Given the description of an element on the screen output the (x, y) to click on. 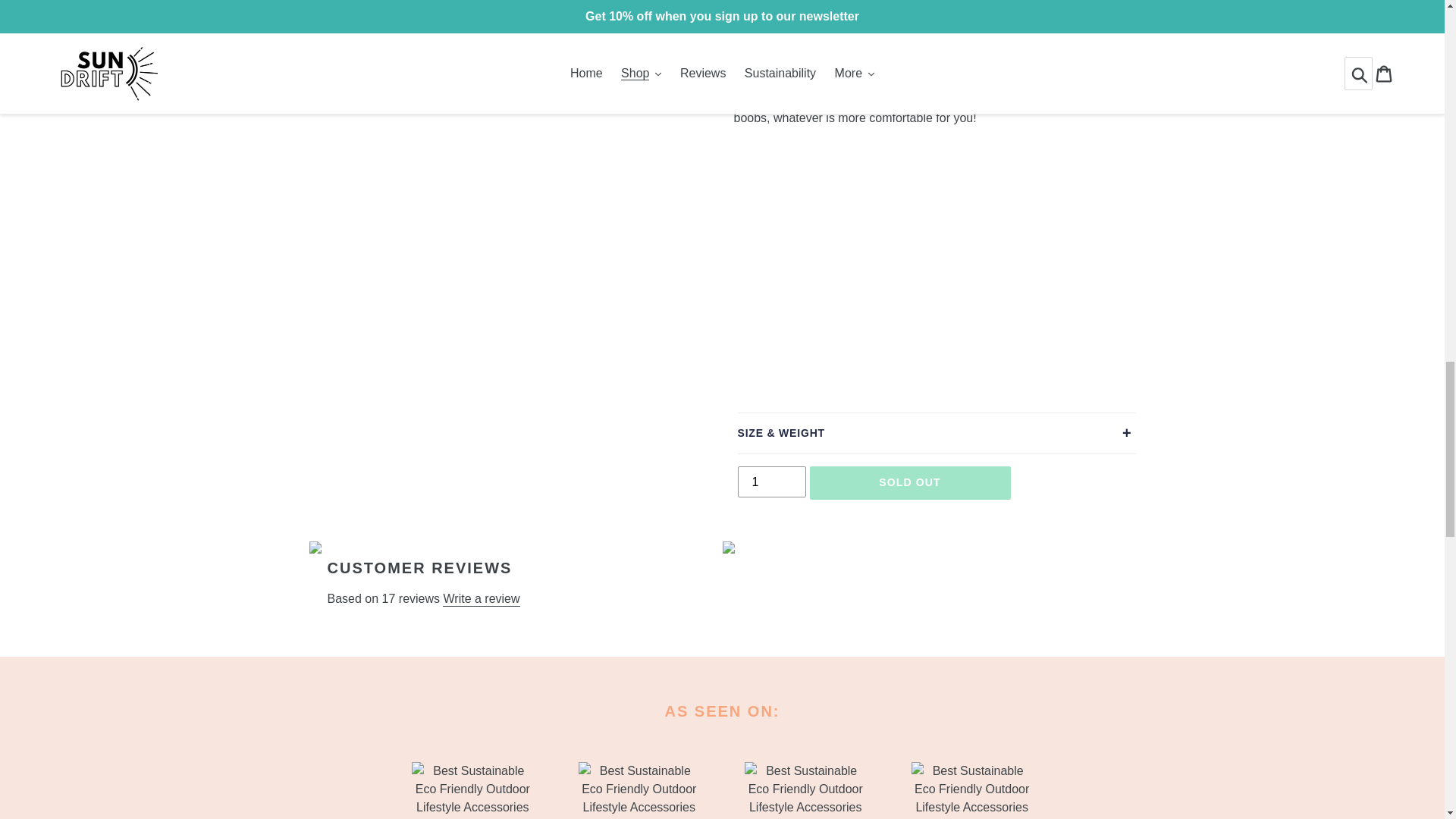
1 (770, 481)
